Given the description of an element on the screen output the (x, y) to click on. 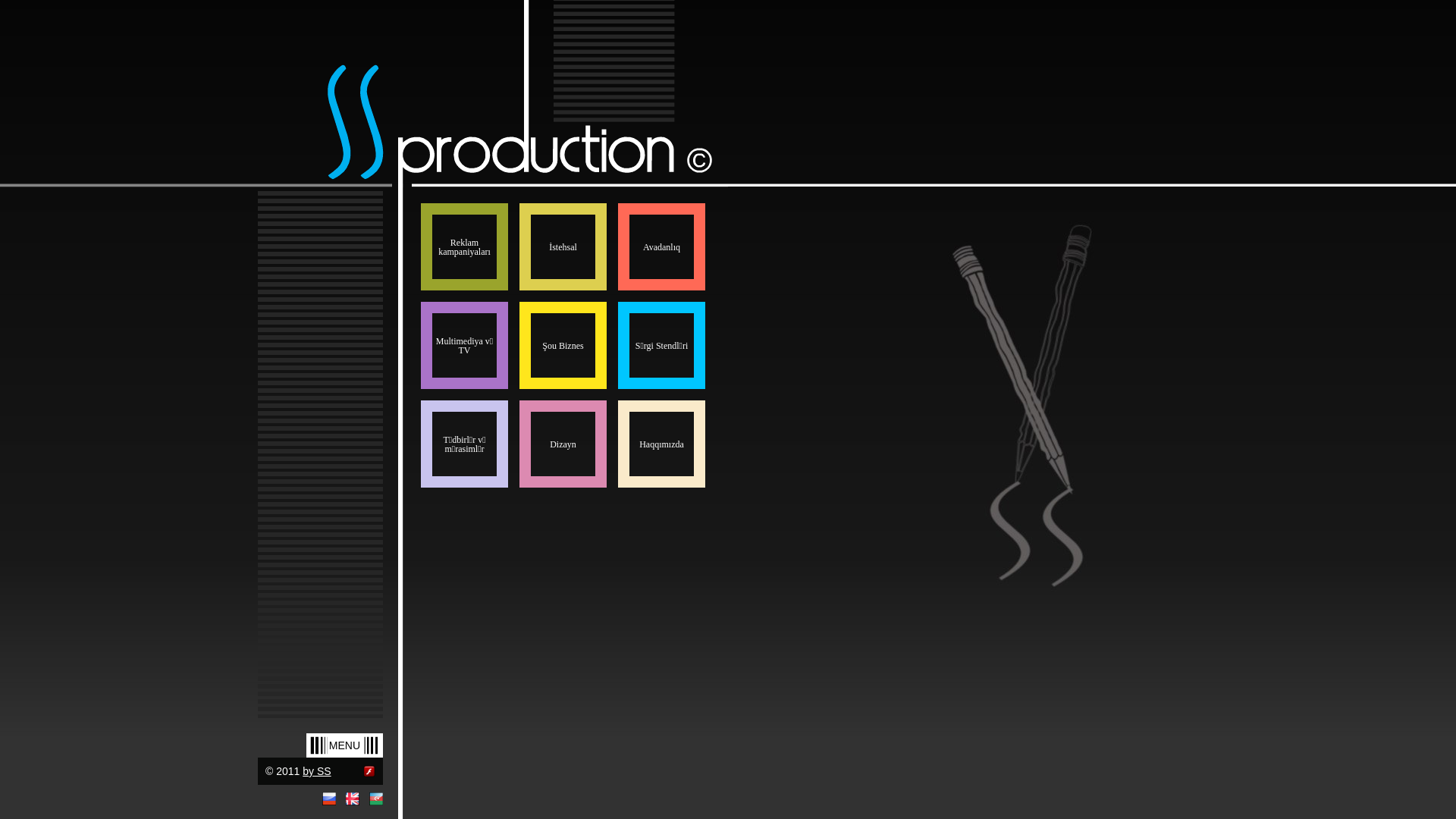
English Element type: hover (352, 798)
Dizayn Element type: text (562, 443)
by SS Element type: text (316, 771)
MENU Element type: text (344, 745)
